Given the description of an element on the screen output the (x, y) to click on. 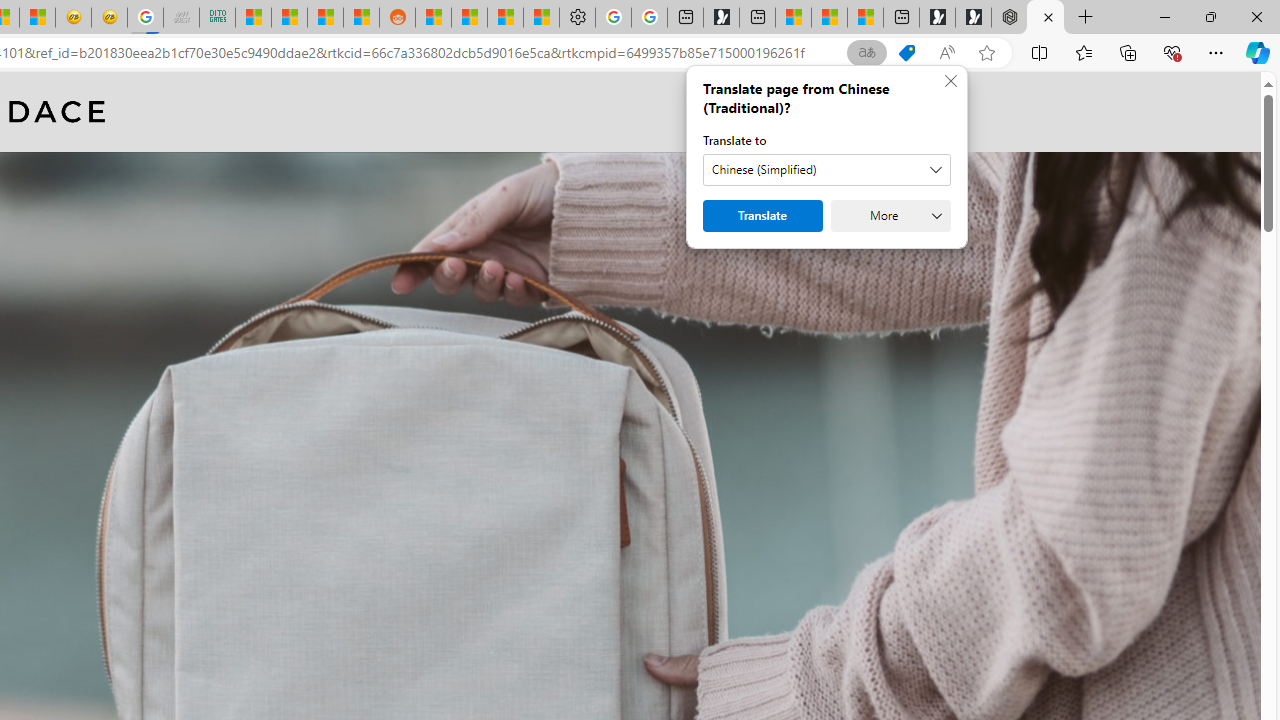
This site has coupons! Shopping in Microsoft Edge (906, 53)
These 3 Stocks Pay You More Than 5% to Own Them (865, 17)
Translate (762, 215)
R******* | Trusted Community Engagement and Contributions (433, 17)
